Given the description of an element on the screen output the (x, y) to click on. 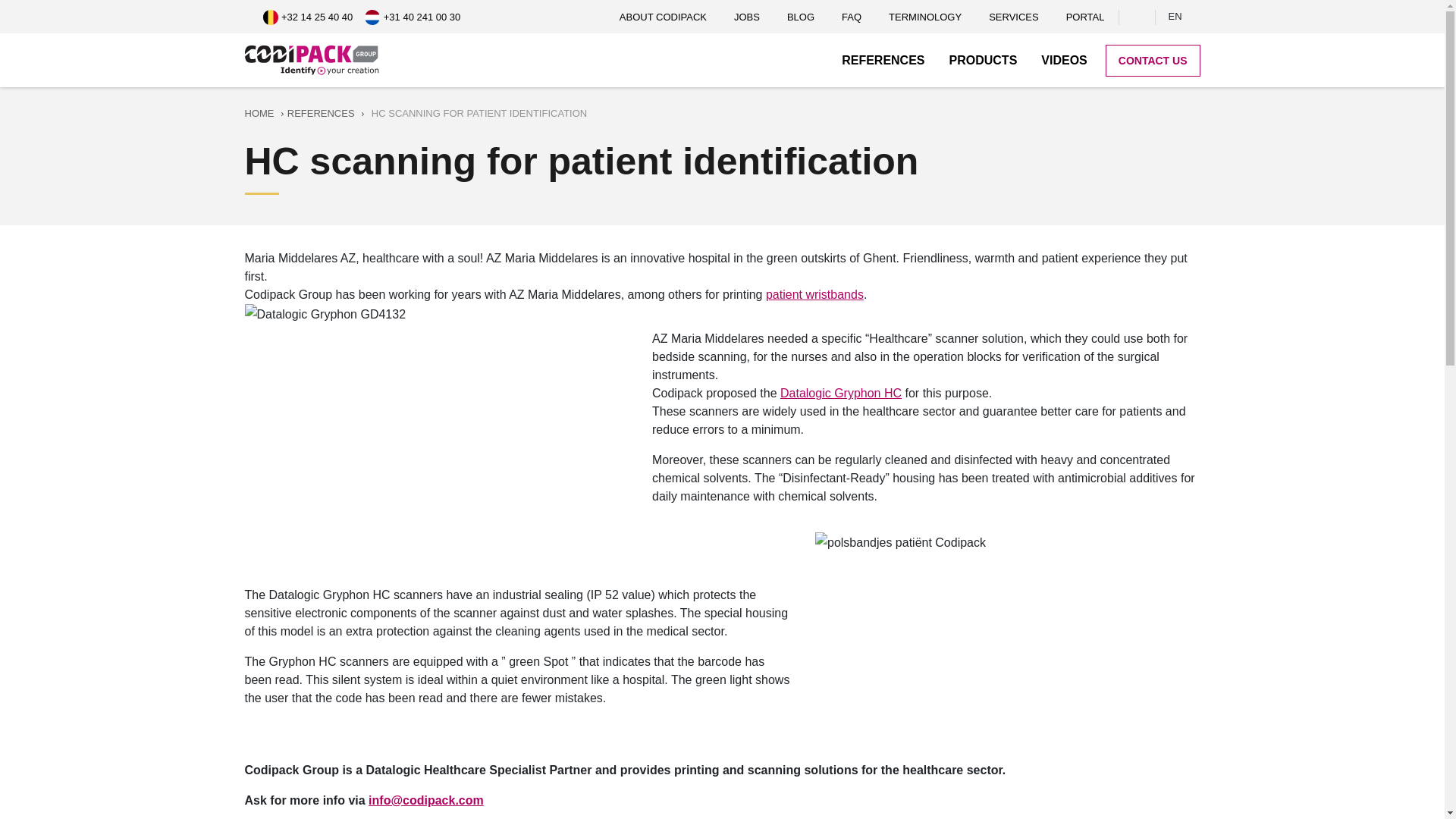
REFERENCES (882, 59)
ABOUT CODIPACK (662, 17)
BLOG (800, 17)
JOBS (746, 17)
PORTAL (1085, 17)
Home (314, 60)
FAQ (851, 17)
PRODUCTS (983, 59)
SERVICES (1013, 17)
TERMINOLOGY (924, 17)
